Given the description of an element on the screen output the (x, y) to click on. 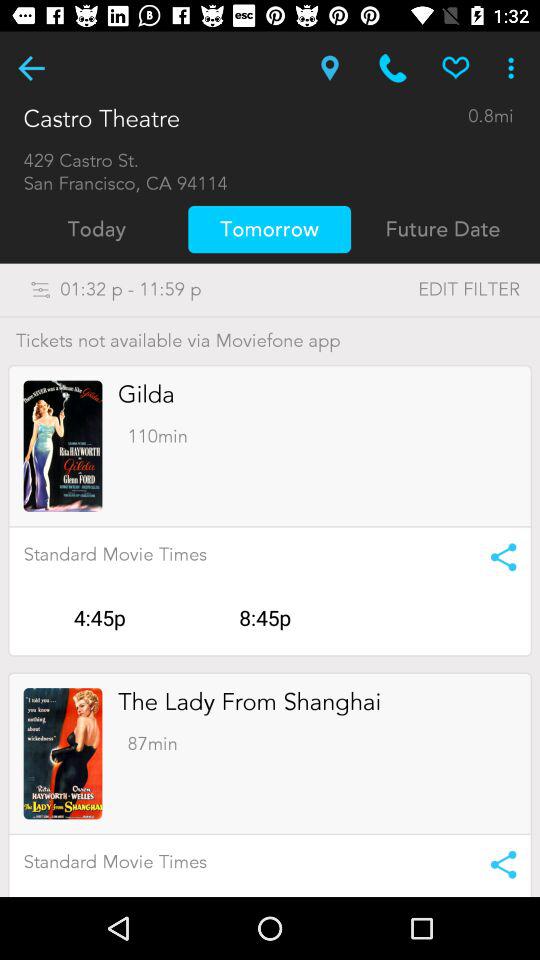
choose the item above 110min item (146, 394)
